Given the description of an element on the screen output the (x, y) to click on. 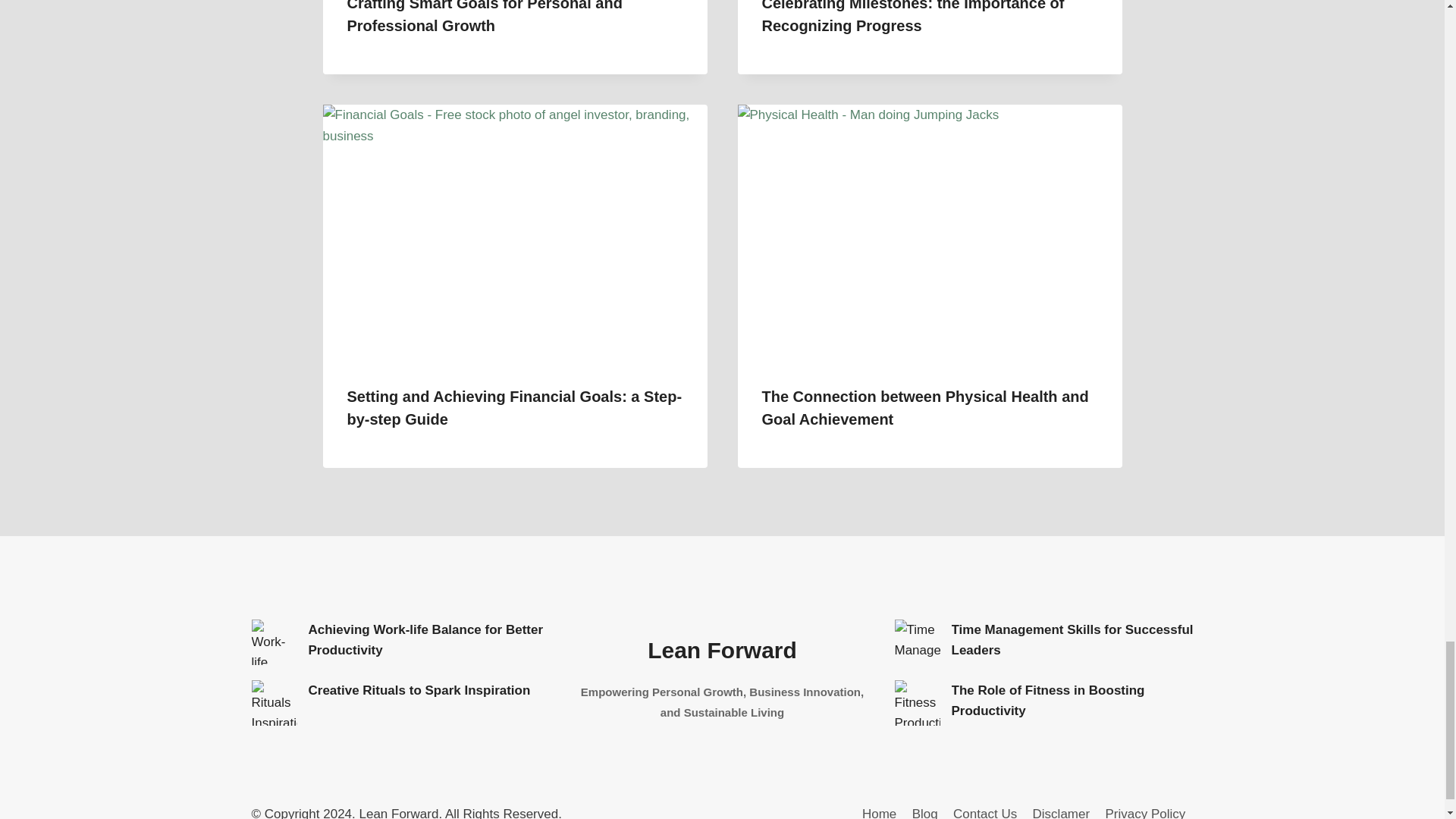
Setting and Achieving Financial Goals: a Step-by-step Guide (514, 407)
The Role of Fitness in Boosting Productivity (917, 702)
Creative Rituals to Spark Inspiration (418, 690)
Achieving Work-life Balance for Better Productivity (274, 642)
Time Management Skills for Successful Leaders (1071, 639)
Time Management Skills for Successful Leaders (917, 642)
Achieving Work-life Balance for Better Productivity (425, 639)
The Connection between Physical Health and Goal Achievement (924, 407)
Creative Rituals to Spark Inspiration (274, 702)
Crafting Smart Goals for Personal and Professional Growth (485, 17)
